Given the description of an element on the screen output the (x, y) to click on. 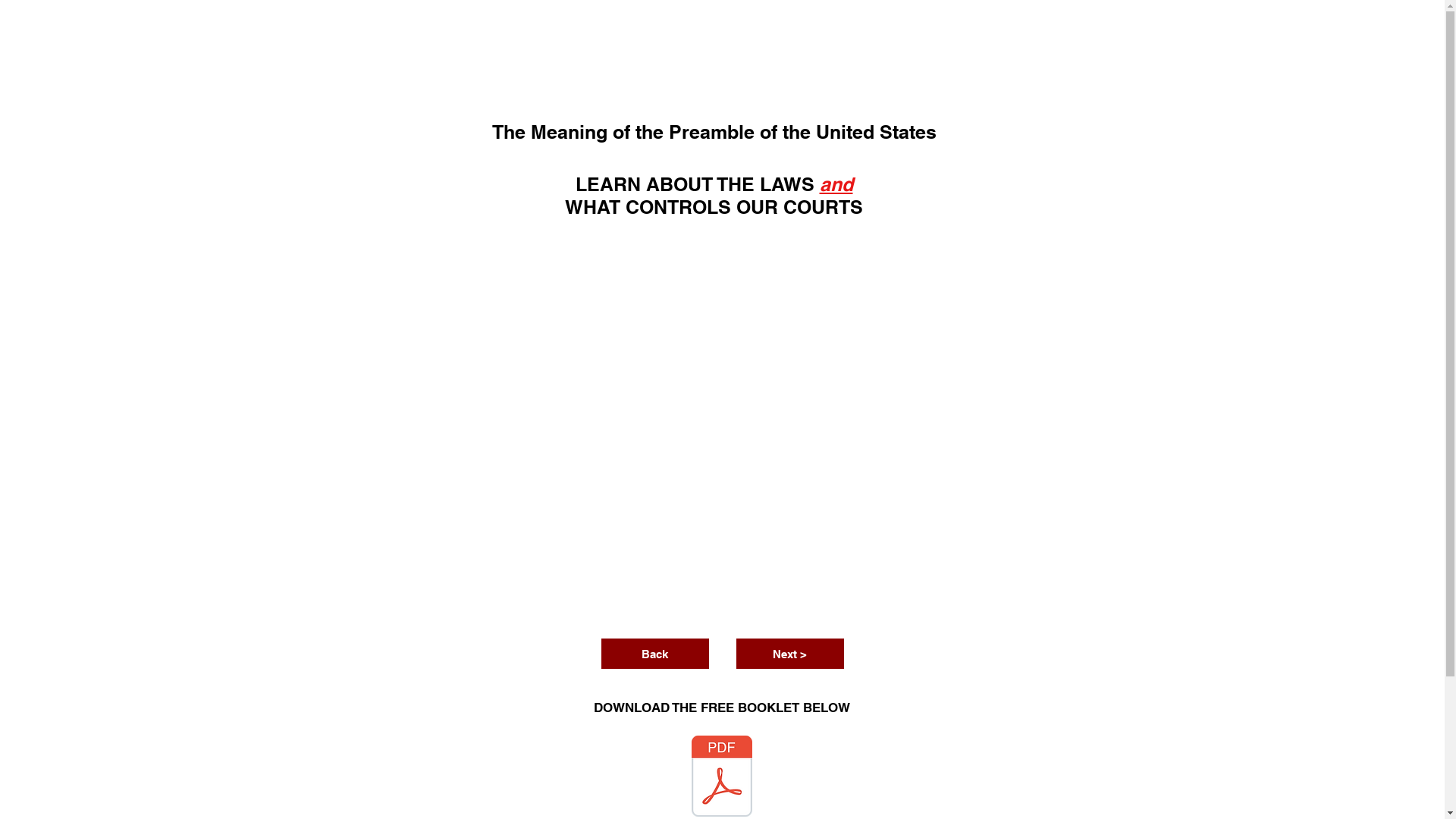
Next > Element type: text (789, 653)
Back Element type: text (654, 653)
